Given the description of an element on the screen output the (x, y) to click on. 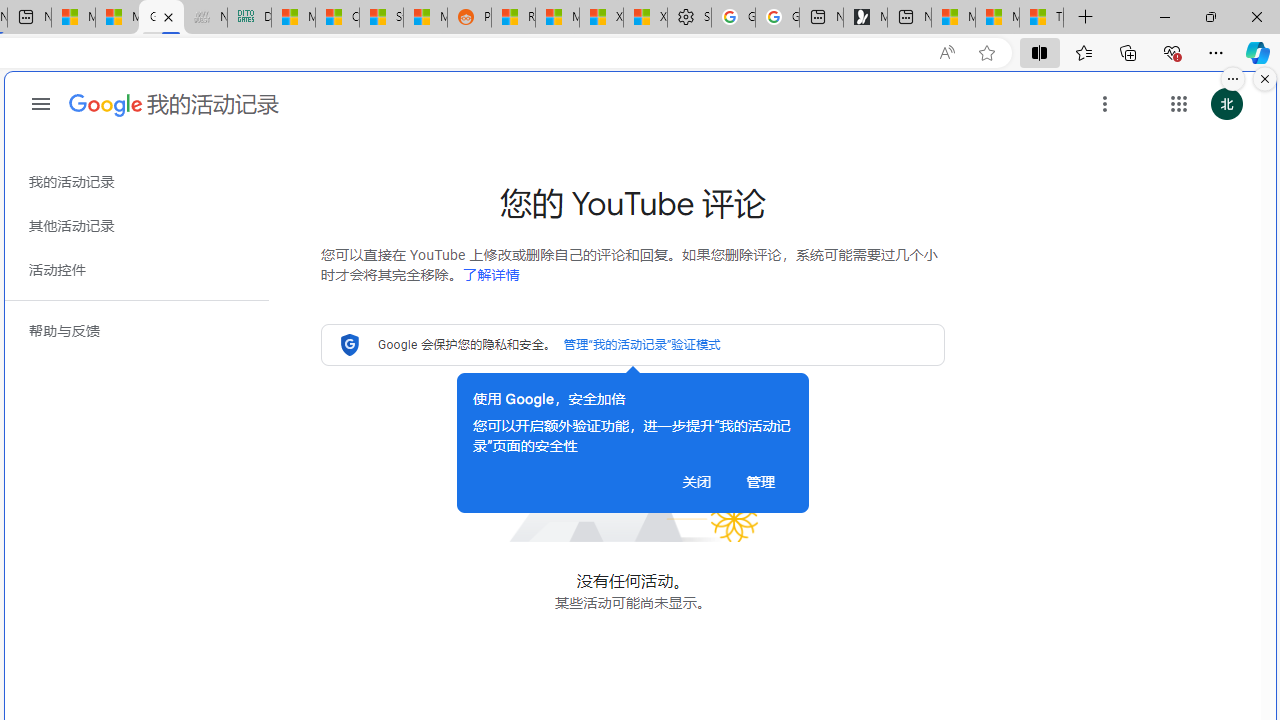
Microsoft Start Gaming (865, 17)
